Given the description of an element on the screen output the (x, y) to click on. 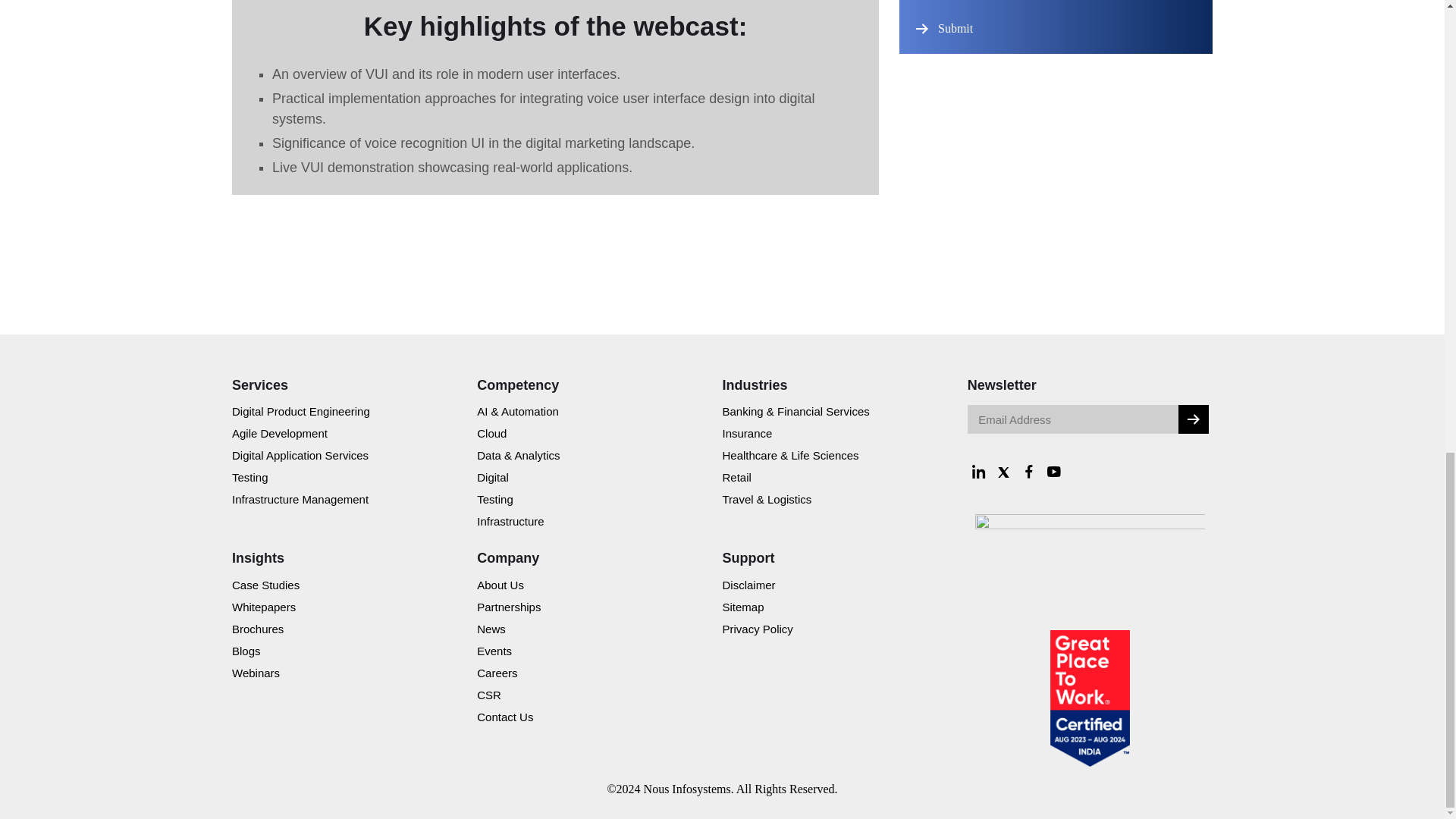
. (1192, 419)
Submit (957, 28)
